Given the description of an element on the screen output the (x, y) to click on. 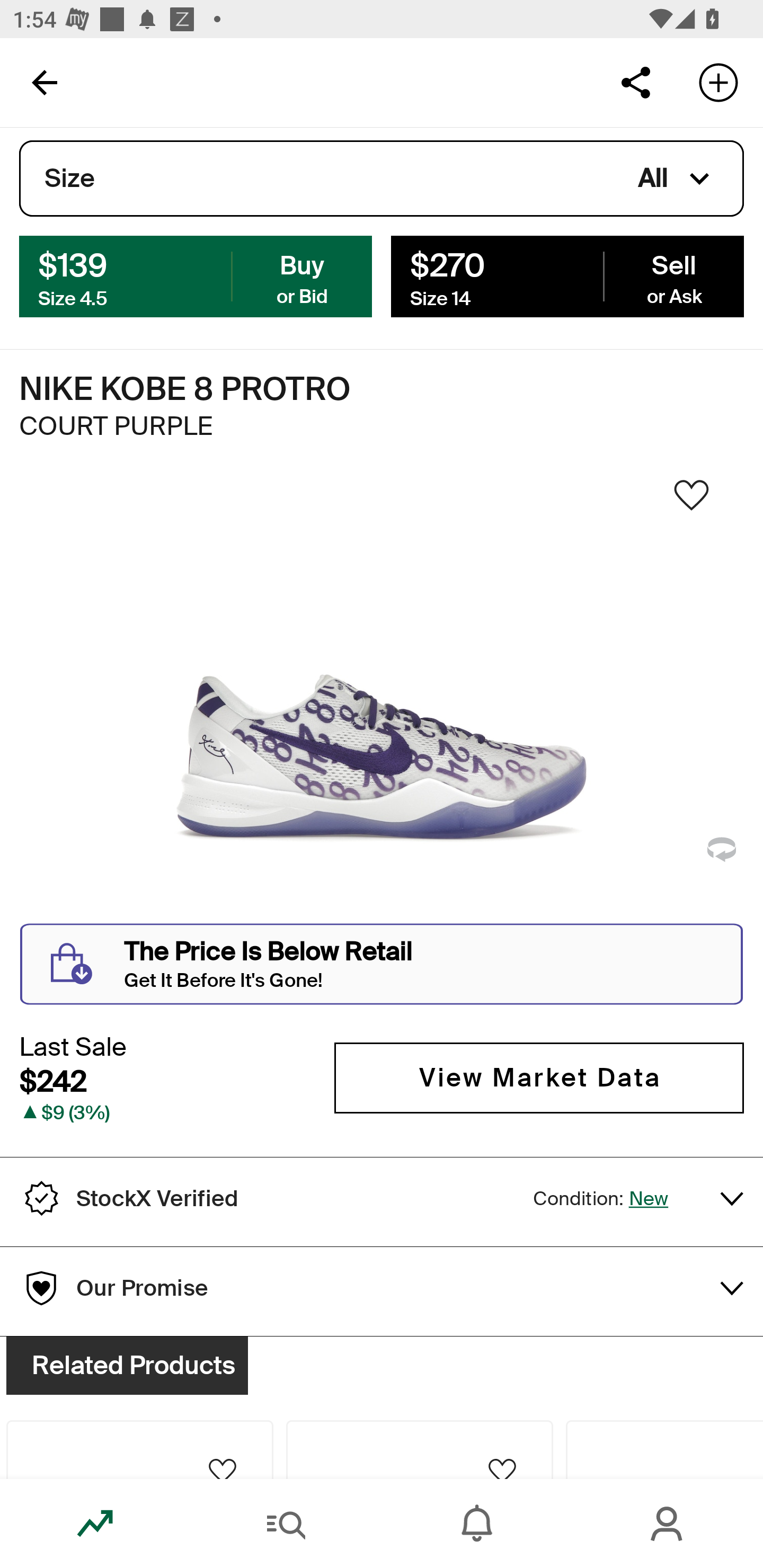
Share (635, 81)
Add (718, 81)
Size All (381, 178)
$139 Buy Size 4.5 or Bid (195, 275)
$270 Sell Size 14 or Ask (566, 275)
View Market Data (538, 1077)
Search (285, 1523)
Inbox (476, 1523)
Account (667, 1523)
